Given the description of an element on the screen output the (x, y) to click on. 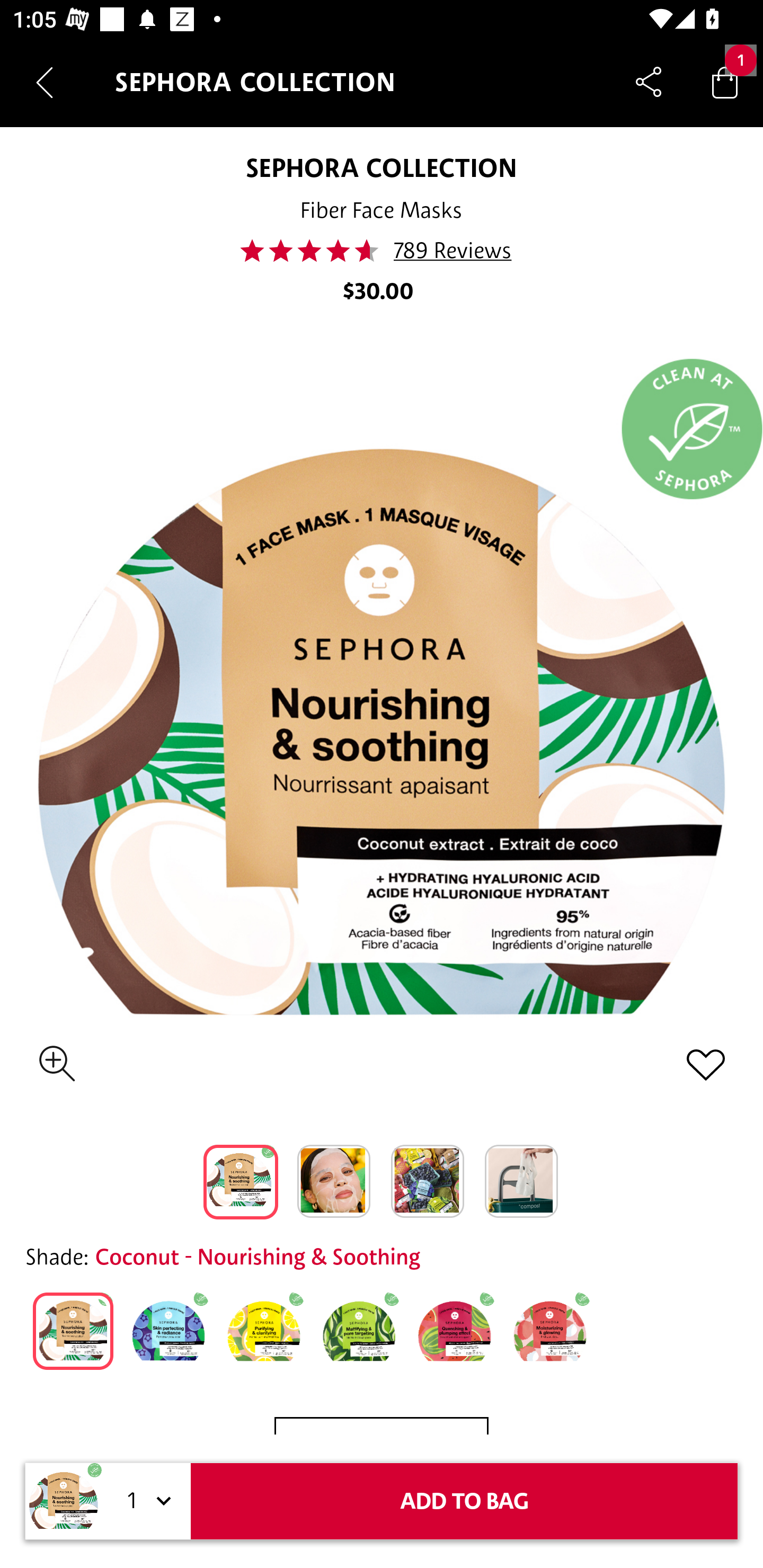
Navigate up (44, 82)
Share (648, 81)
Bag (724, 81)
SEPHORA COLLECTION (380, 167)
46.0 789 Reviews (381, 250)
1 (145, 1500)
ADD TO BAG (463, 1500)
